Given the description of an element on the screen output the (x, y) to click on. 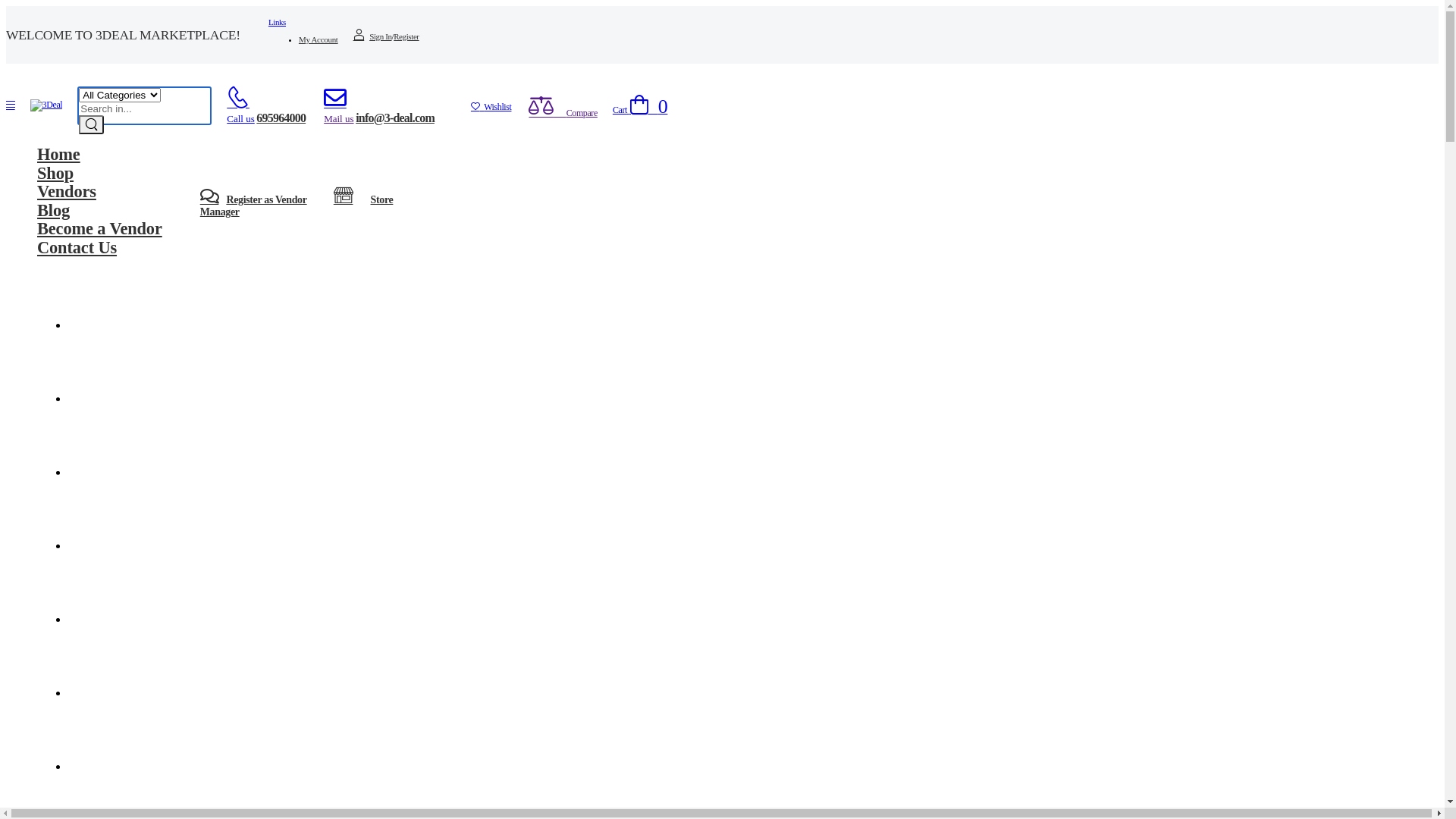
Medical Element type: text (94, 615)
Jewelry Element type: text (94, 689)
Become a Vendor Element type: text (99, 227)
Links Element type: text (276, 21)
Blog Element type: text (53, 209)
My Account Element type: text (318, 38)
3Deal - We deliver tommorow, Today! Element type: hover (46, 104)
Constructions Element type: text (94, 763)
Call us Element type: text (240, 118)
Store Manager Element type: text (296, 205)
Vendors Element type: text (66, 190)
Wishlist Element type: text (490, 106)
Shoes Element type: text (94, 468)
Shop Element type: text (55, 172)
Sign In Element type: text (372, 35)
Register as Vendor Element type: text (265, 199)
Contact Us Element type: text (76, 246)
695964000 Element type: text (280, 117)
info@3-deal.com Element type: text (394, 117)
Cart 0 Element type: text (640, 109)
Home Element type: text (58, 153)
Mechanically Element type: text (94, 395)
All Categories Element type: text (94, 321)
Decoration Element type: text (94, 542)
Compare Element type: text (562, 112)
Register Element type: text (405, 35)
Mail us Element type: text (338, 118)
